Given the description of an element on the screen output the (x, y) to click on. 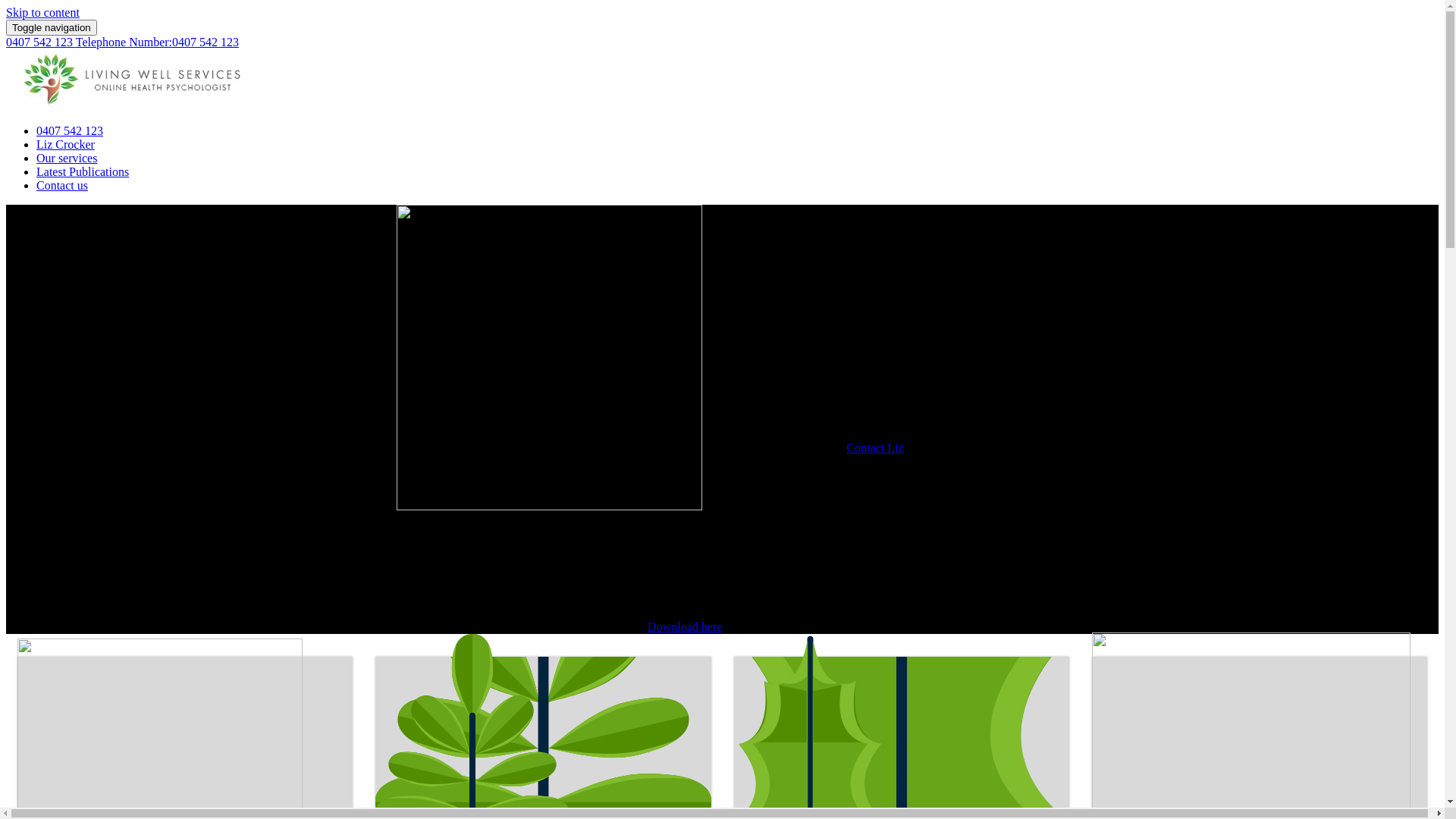
Contact us Element type: text (61, 184)
Toggle navigation Element type: text (51, 27)
Skip to content Element type: text (42, 12)
Download here Element type: text (684, 626)
Our services Element type: text (66, 157)
Contact Liz Element type: text (874, 447)
0407 542 123 Telephone Number:0407 542 123 Element type: text (122, 41)
Latest Publications Element type: text (82, 171)
0407 542 123 Element type: text (69, 130)
Liz Crocker Element type: text (65, 144)
